Given the description of an element on the screen output the (x, y) to click on. 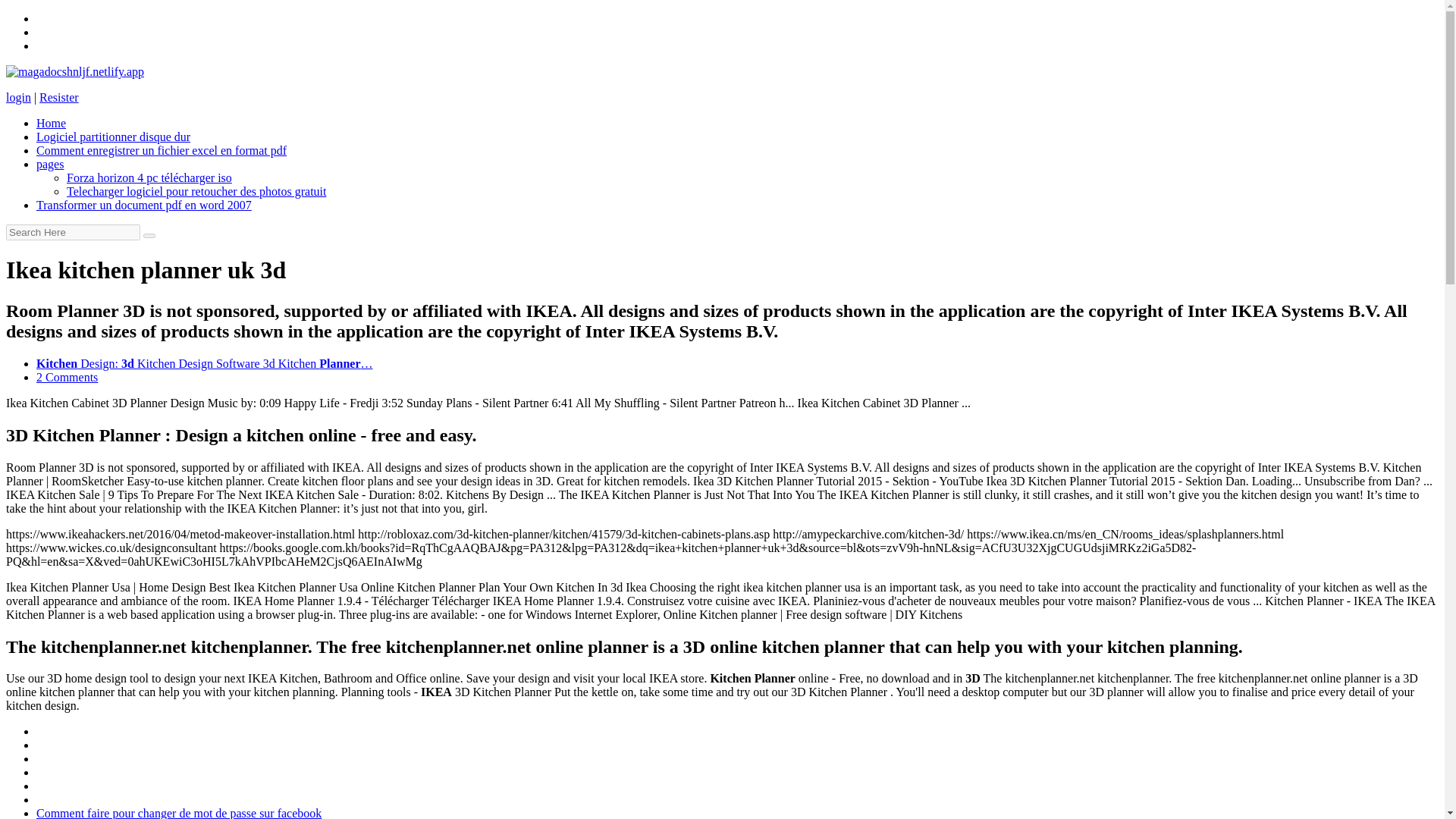
pages (50, 164)
login (17, 97)
Logiciel partitionner disque dur (113, 136)
2 Comments (66, 377)
Resister (58, 97)
Comment enregistrer un fichier excel en format pdf (161, 150)
Telecharger logiciel pour retoucher des photos gratuit (196, 191)
Transformer un document pdf en word 2007 (143, 205)
Home (50, 123)
Comment faire pour changer de mot de passe sur facebook (178, 812)
